Given the description of an element on the screen output the (x, y) to click on. 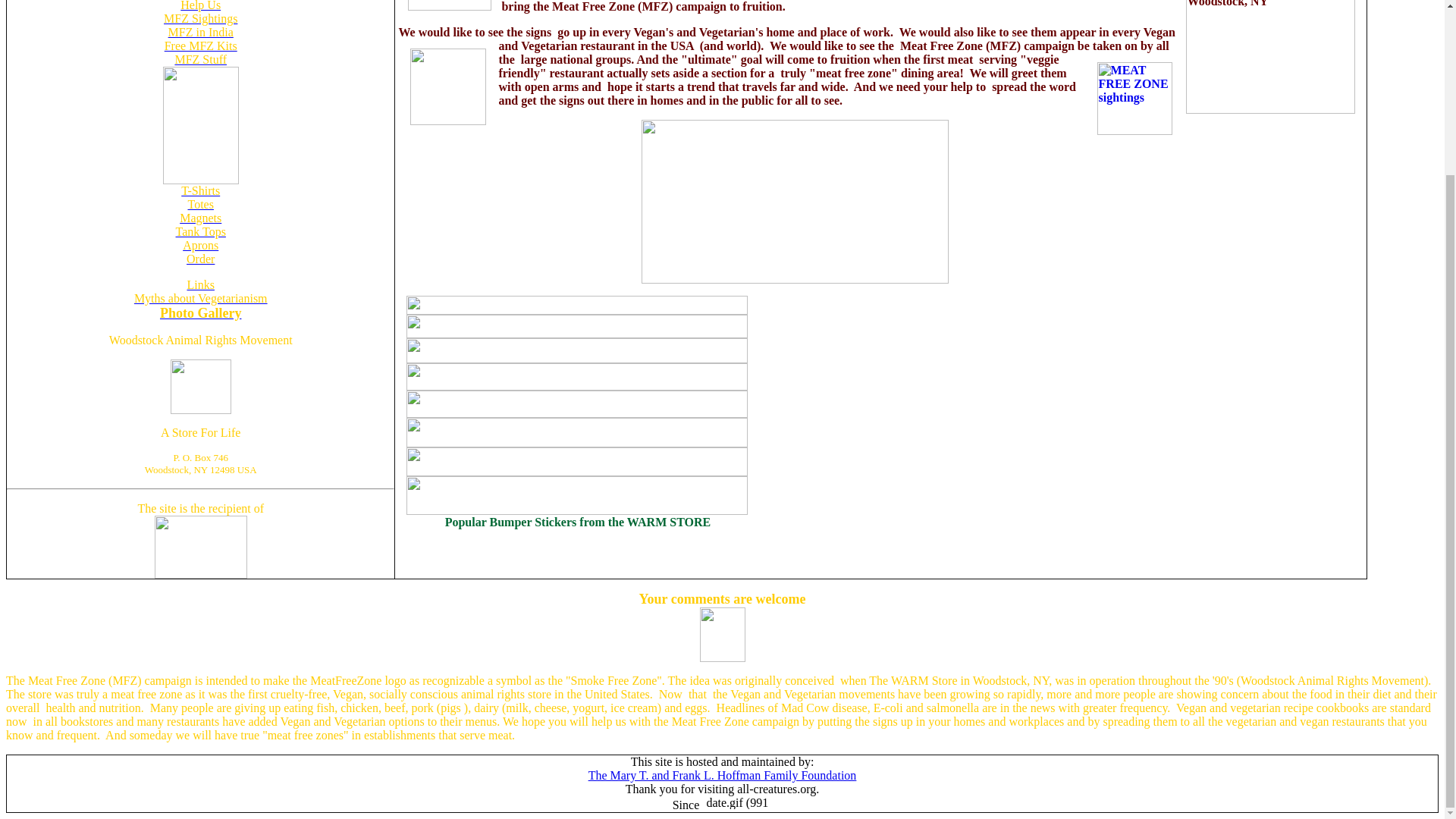
Order (200, 258)
MFZ Stuff (200, 59)
Tank Tops (200, 231)
Magnets (200, 217)
Links (200, 284)
Myths about Vegetarianism (200, 297)
Help Us (200, 5)
T-Shirts (199, 190)
The Mary T. and Frank L. Hoffman Family Foundation (722, 775)
Totes (200, 204)
